Given the description of an element on the screen output the (x, y) to click on. 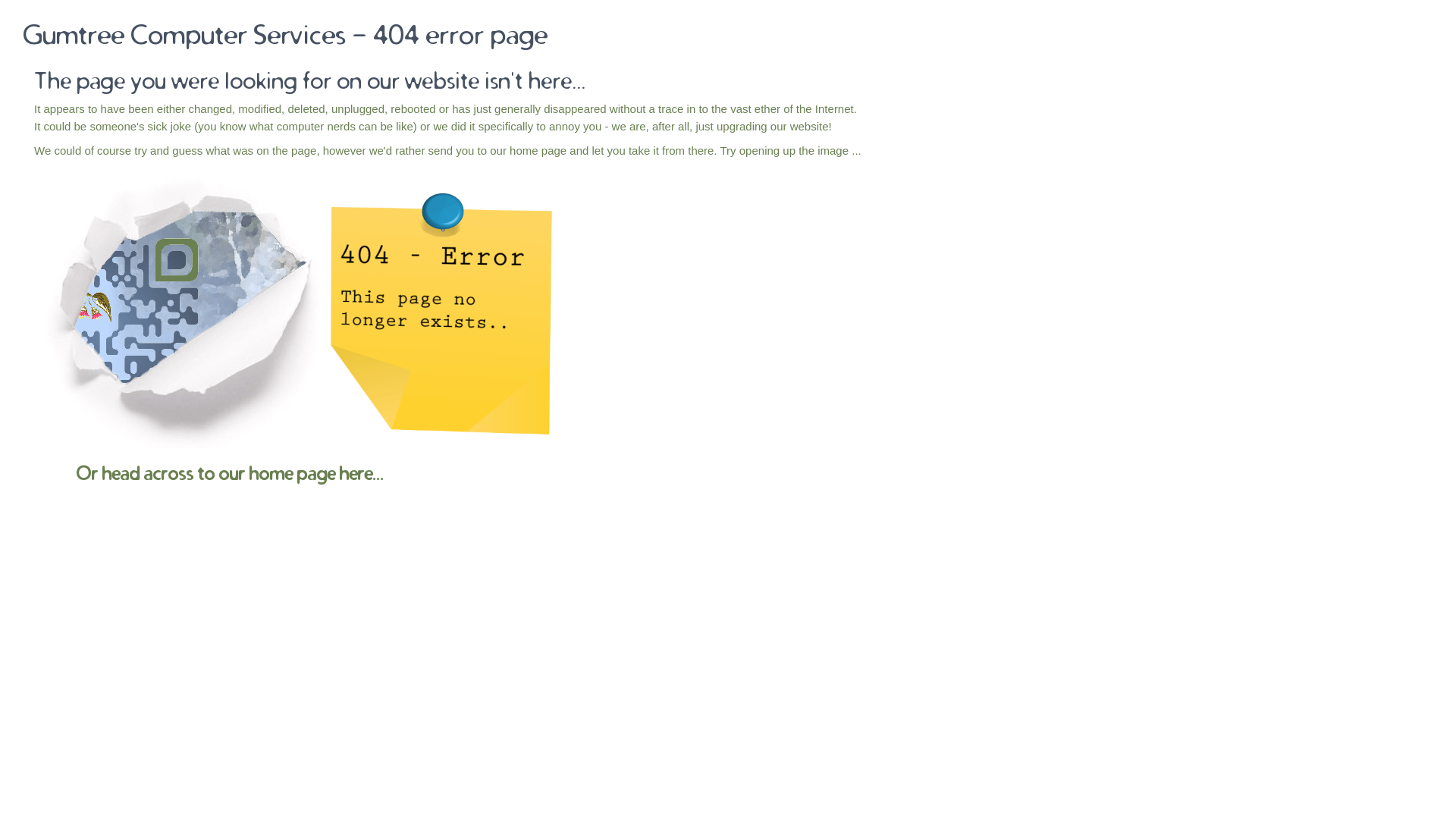
Or head across to our home page here... Element type: text (229, 472)
